Given the description of an element on the screen output the (x, y) to click on. 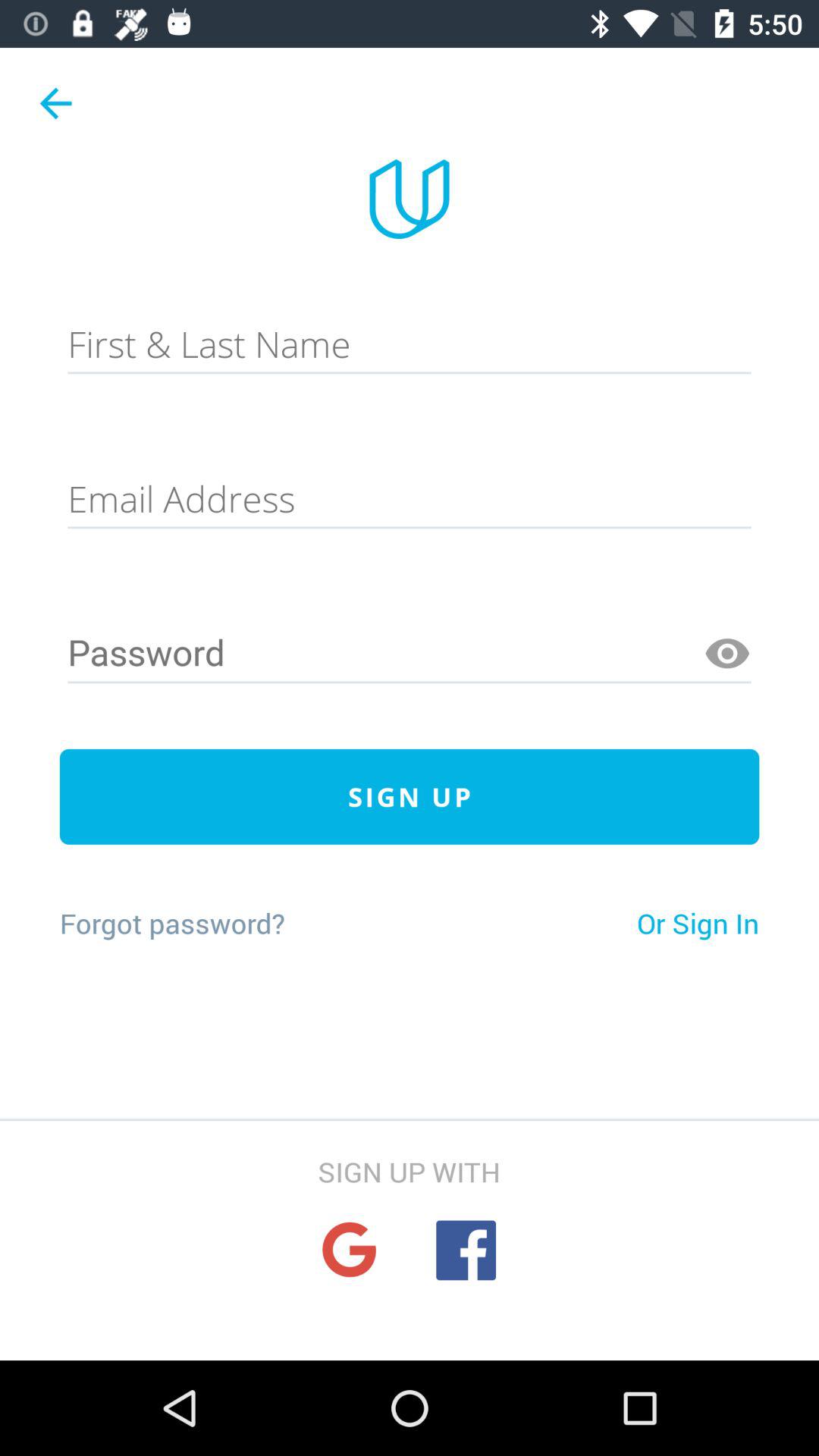
turn off item at the top left corner (55, 103)
